Given the description of an element on the screen output the (x, y) to click on. 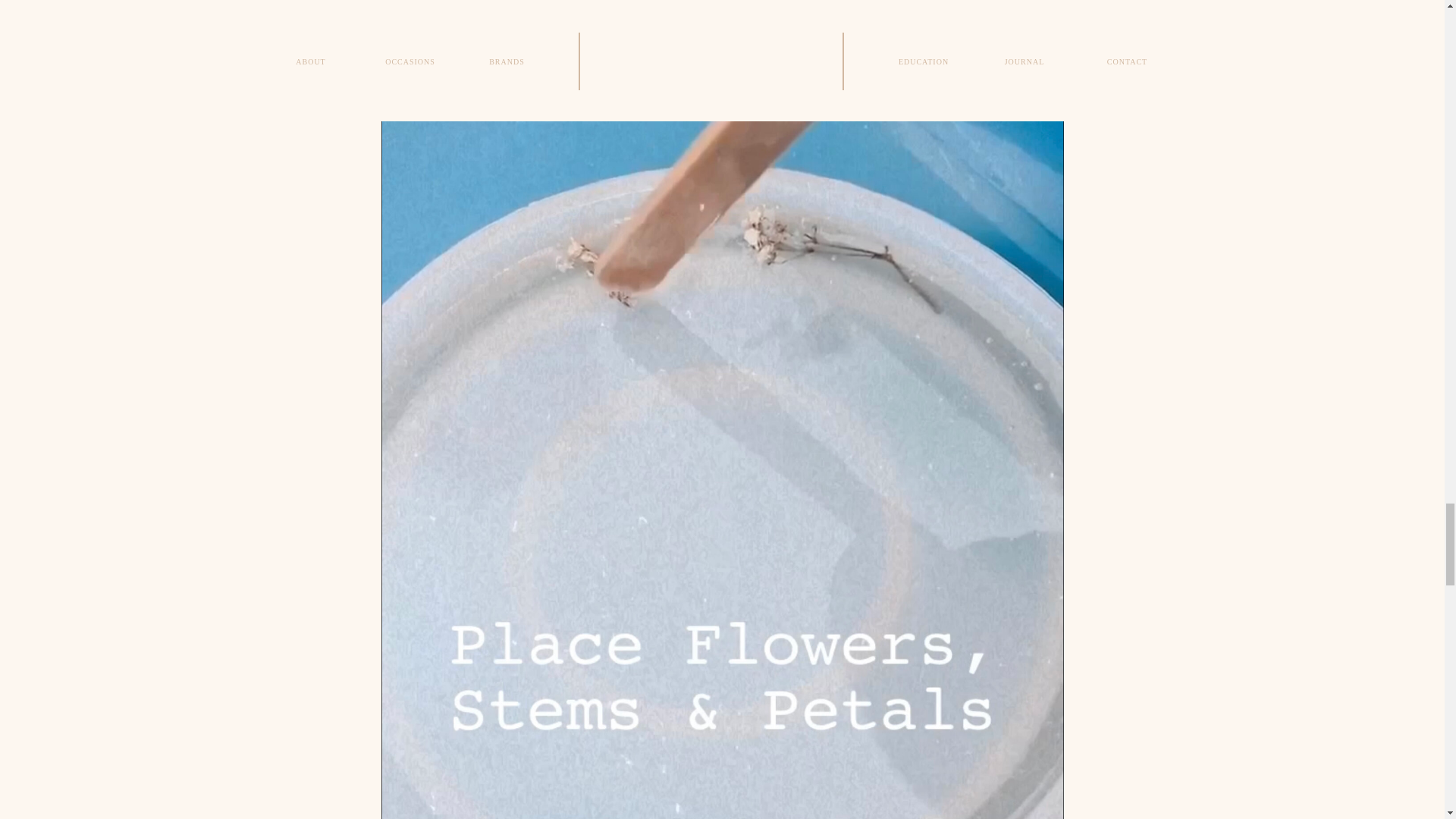
popsicle sticks (654, 32)
mica pigments (830, 49)
 epoxy resin bottles (723, 11)
